Given the description of an element on the screen output the (x, y) to click on. 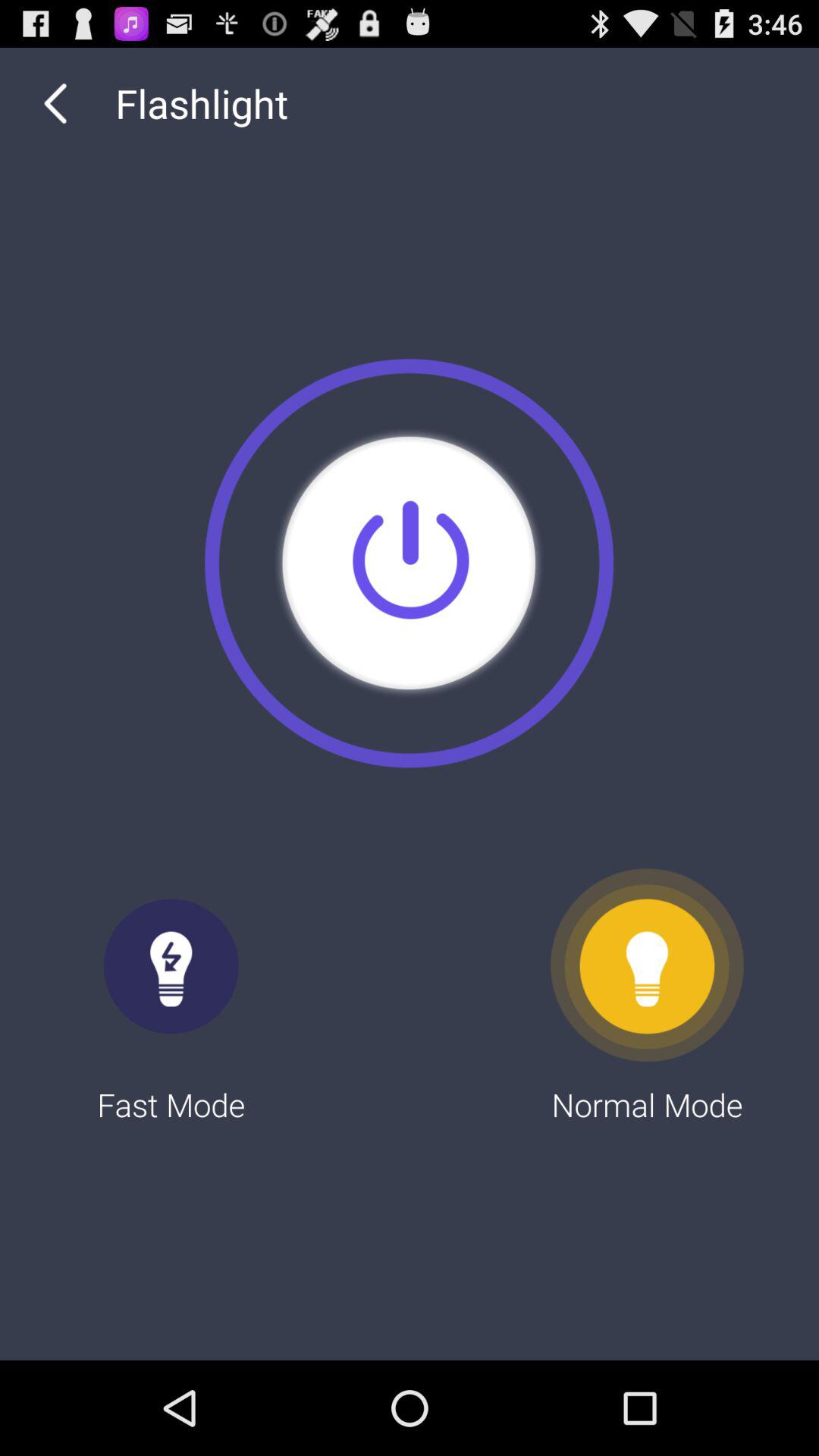
select icon above fast mode item (55, 103)
